Given the description of an element on the screen output the (x, y) to click on. 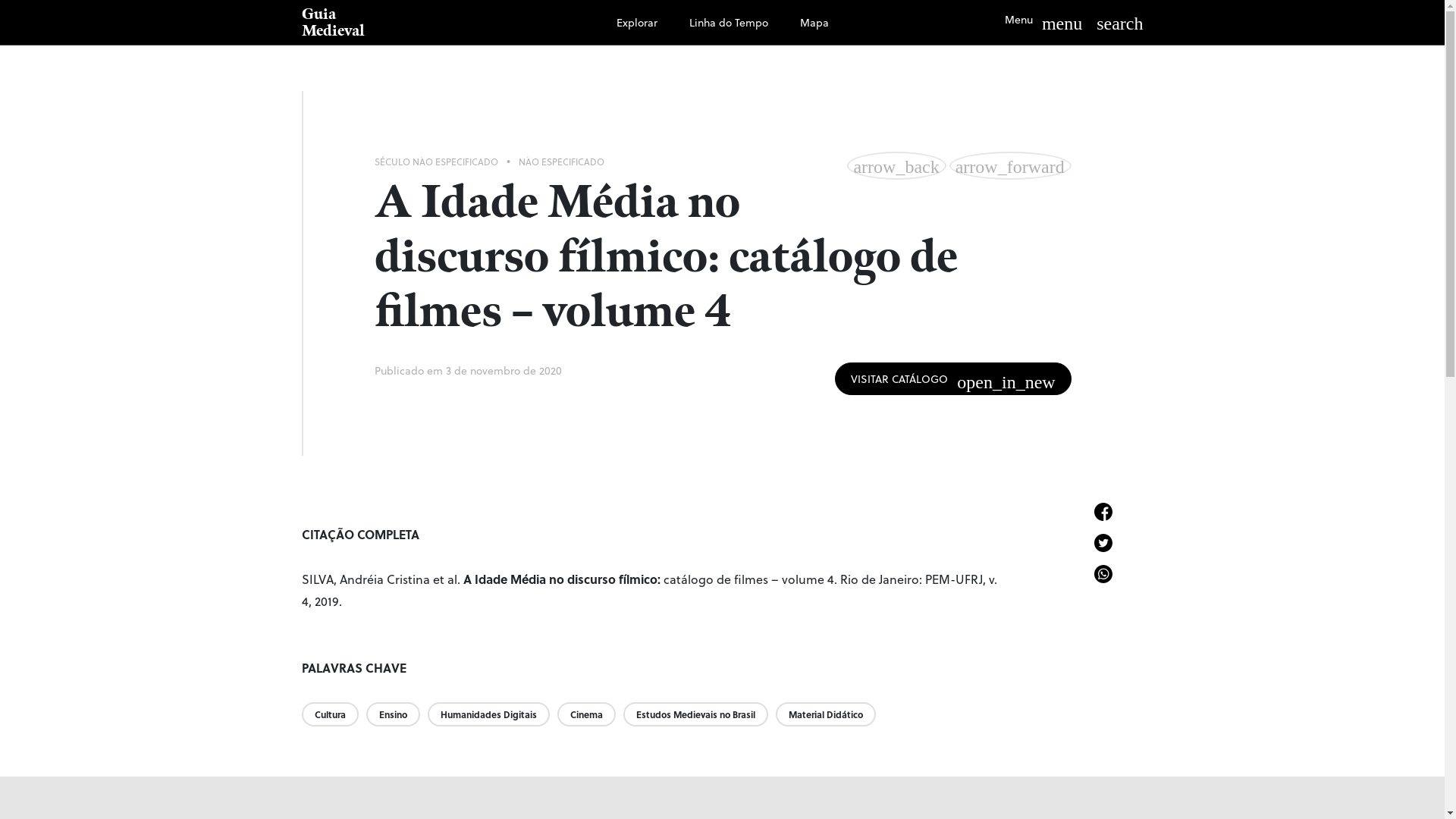
Cultura Element type: text (333, 712)
Mapa Element type: text (814, 22)
Ensino Element type: text (395, 712)
Explorar Element type: text (636, 22)
Estudos Medievais no Brasil Element type: text (699, 712)
Guia
Medieval Element type: text (398, 22)
Linha do Tempo Element type: text (728, 22)
Humanidades Digitais Element type: text (492, 712)
arrow_back Element type: text (896, 165)
arrow_forward Element type: text (1010, 165)
Cinema Element type: text (589, 712)
